Given the description of an element on the screen output the (x, y) to click on. 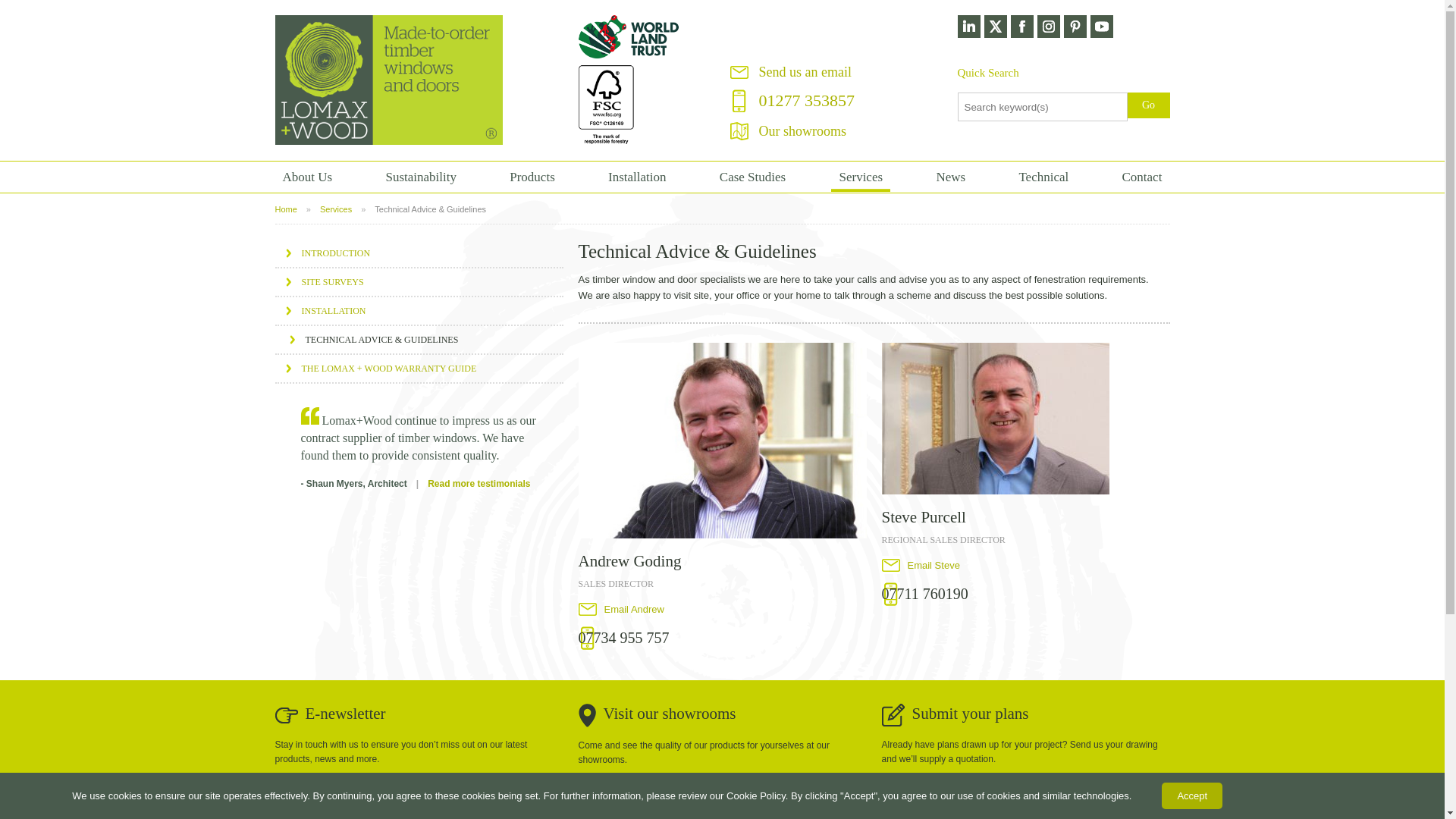
Cookie Policy (756, 795)
Follow us on Pinterest (1074, 27)
Our showrooms (801, 130)
Like us on Facebook (1021, 27)
Installation (635, 176)
Accept (1192, 795)
Signup (533, 794)
01277 353857 (806, 99)
Go (1147, 104)
Contact (1142, 176)
Find us on Youtube (1101, 27)
Go (1147, 104)
Follow us on X (995, 27)
Services (860, 176)
Sustainability (420, 176)
